Given the description of an element on the screen output the (x, y) to click on. 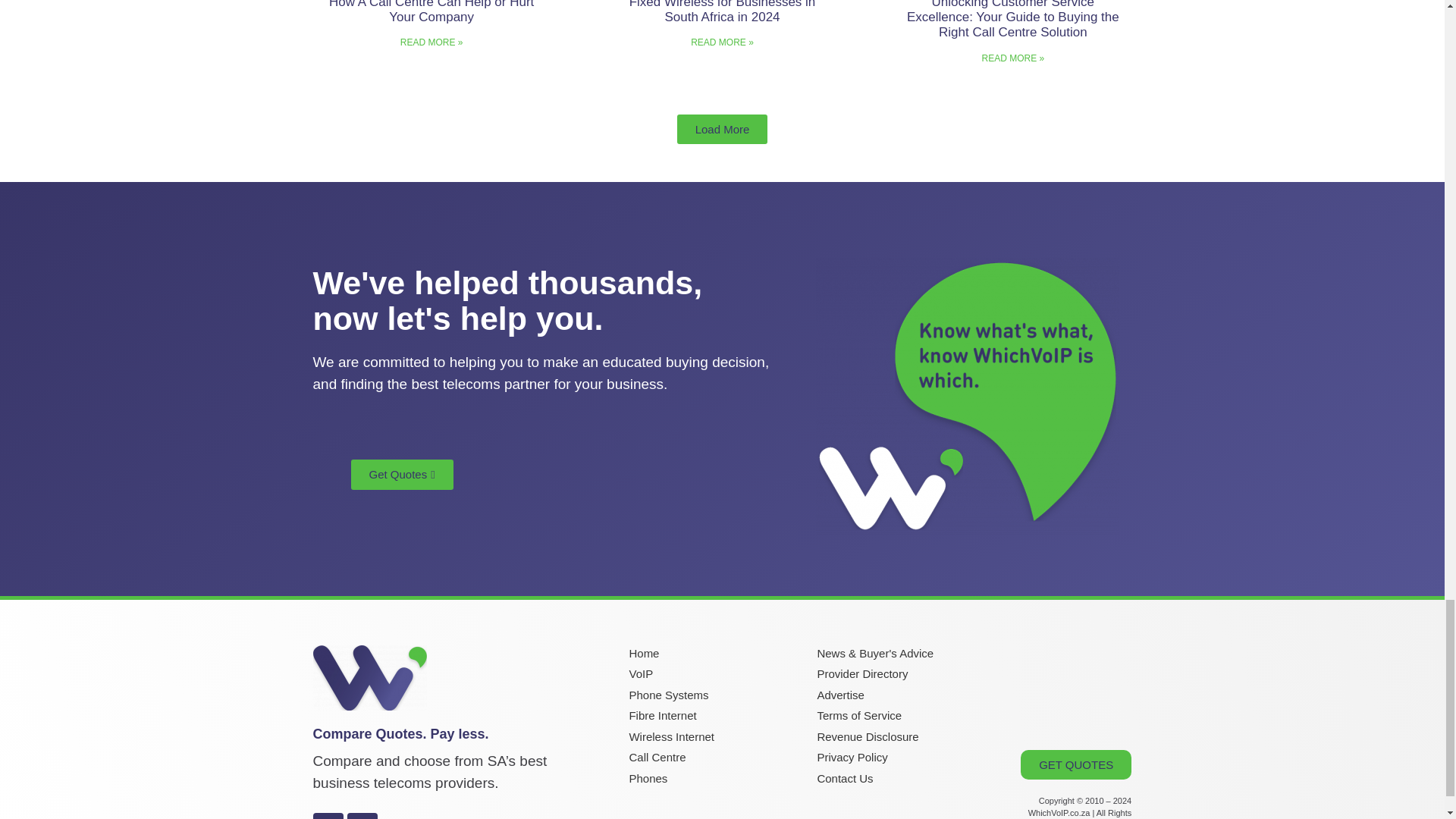
sw (967, 396)
WhichVoIP Logo-16 (369, 677)
